Given the description of an element on the screen output the (x, y) to click on. 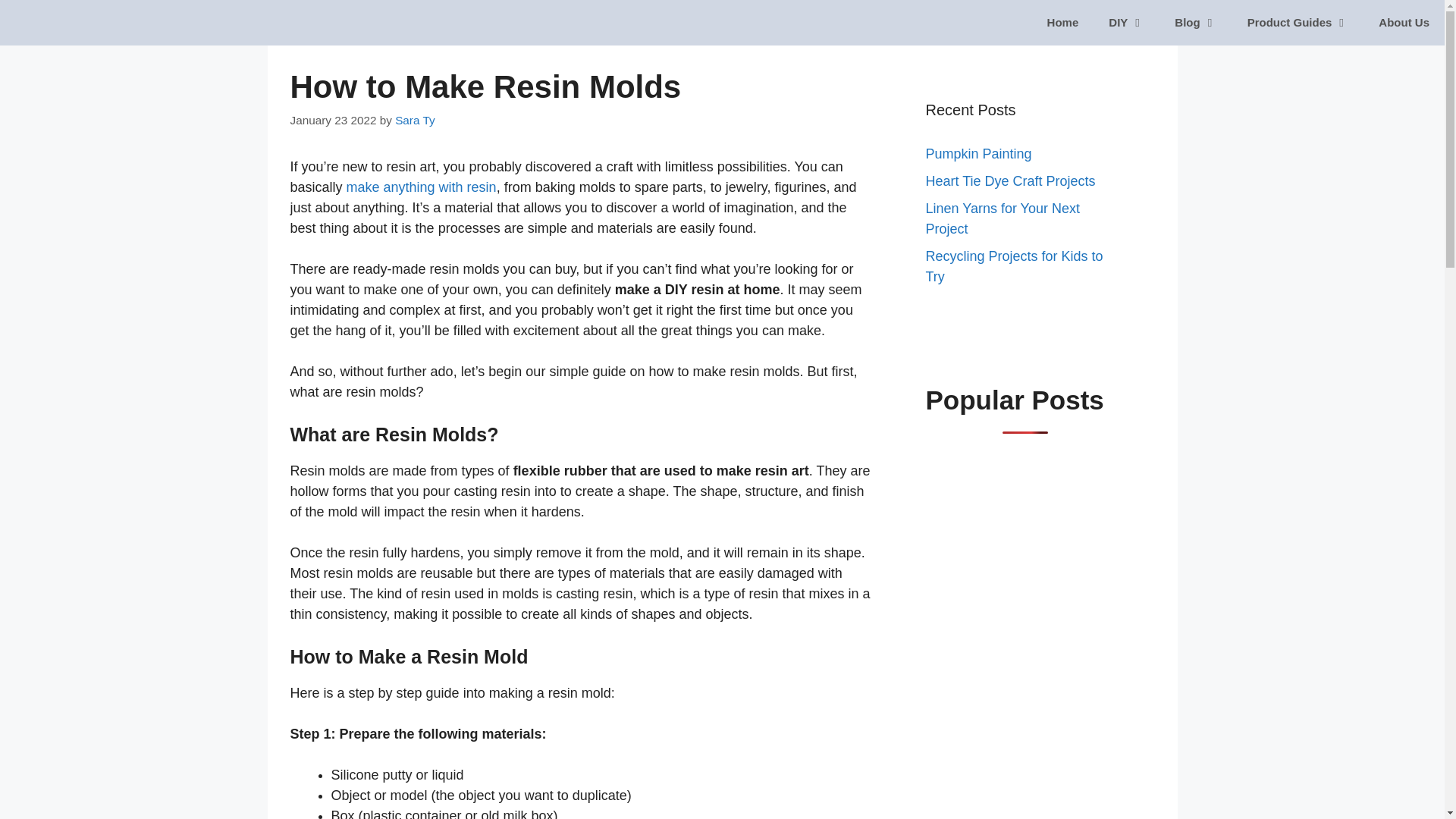
Product Guides (1297, 22)
DIY (1125, 22)
Home (1063, 22)
JustCraftingAround (54, 22)
View all posts by Sara Ty (413, 119)
Blog (1194, 22)
